Given the description of an element on the screen output the (x, y) to click on. 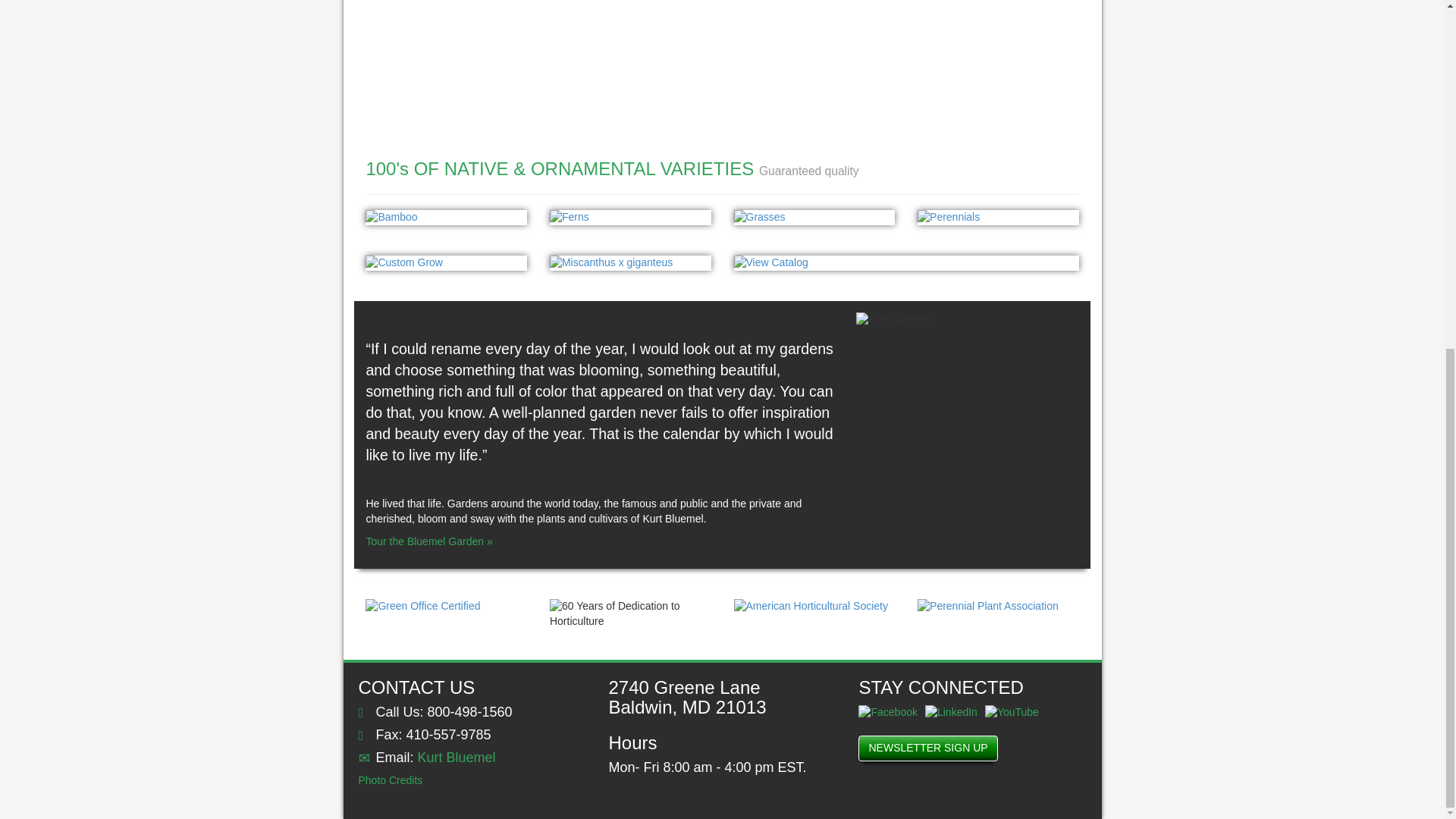
Perennial Plant Association (997, 606)
Plant Shown: Phyllostachys nuda (446, 217)
50 Years of Dedication to Horticulture (630, 613)
View our full catalog (905, 263)
Plant Shown: Rudbeckia fulgida 'Goldstrum' Black-Eyed Susan (997, 217)
American Horticultural Society (814, 606)
Plant Shown: Anthrium Filix-Femina Lady Fern (630, 217)
Green Office Certified (446, 606)
